Given the description of an element on the screen output the (x, y) to click on. 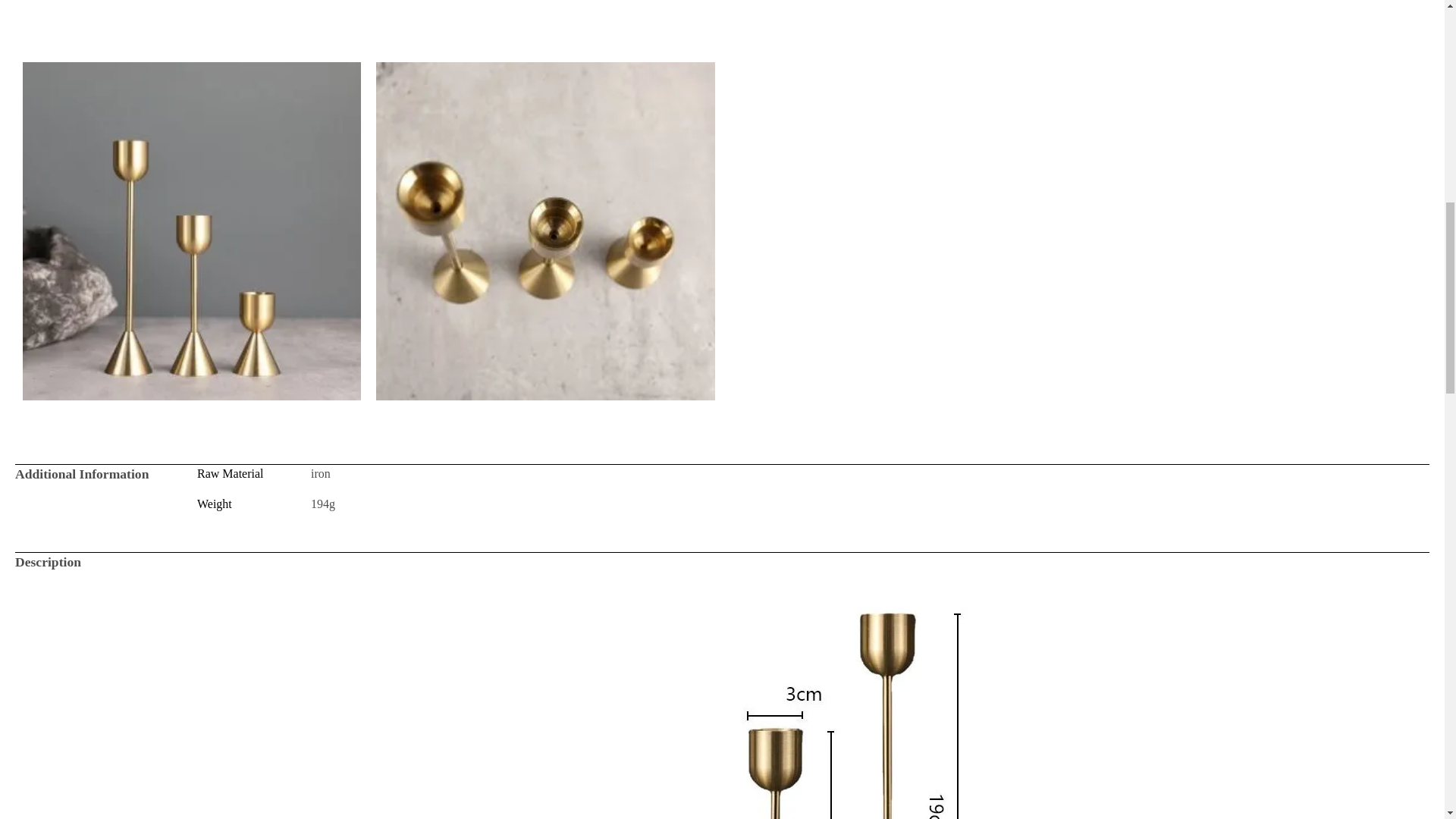
holder-2307-2 (192, 231)
holder-2307 (368, 23)
holder-2307-1 (544, 231)
